Given the description of an element on the screen output the (x, y) to click on. 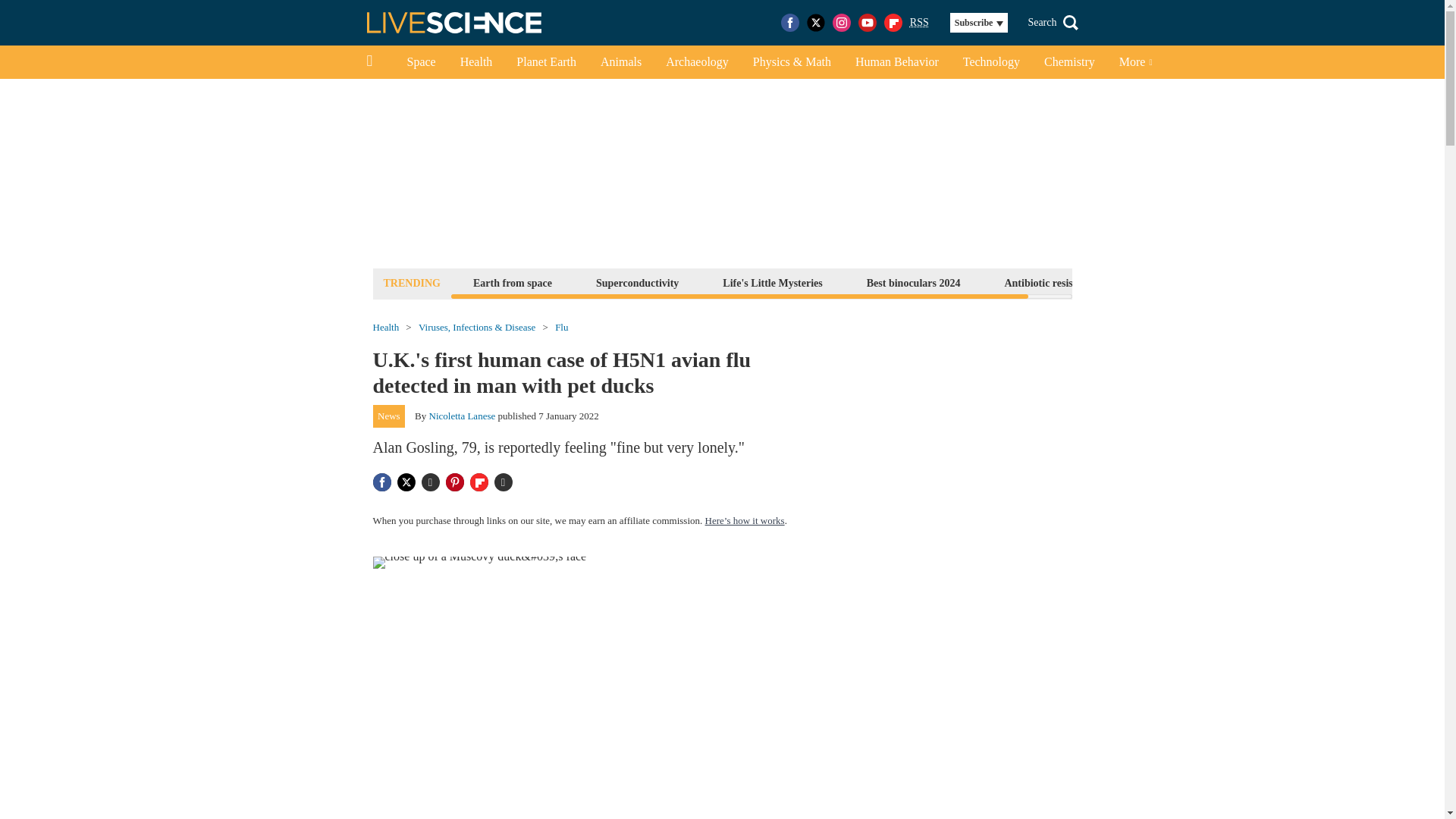
Life's Little Mysteries (772, 282)
Antibiotic resistance (1050, 282)
Animals (620, 61)
Technology (991, 61)
RSS (919, 22)
Superconductivity (637, 282)
Earth from space (512, 282)
Really Simple Syndication (919, 21)
Best binoculars 2024 (913, 282)
Planet Earth (545, 61)
